Given the description of an element on the screen output the (x, y) to click on. 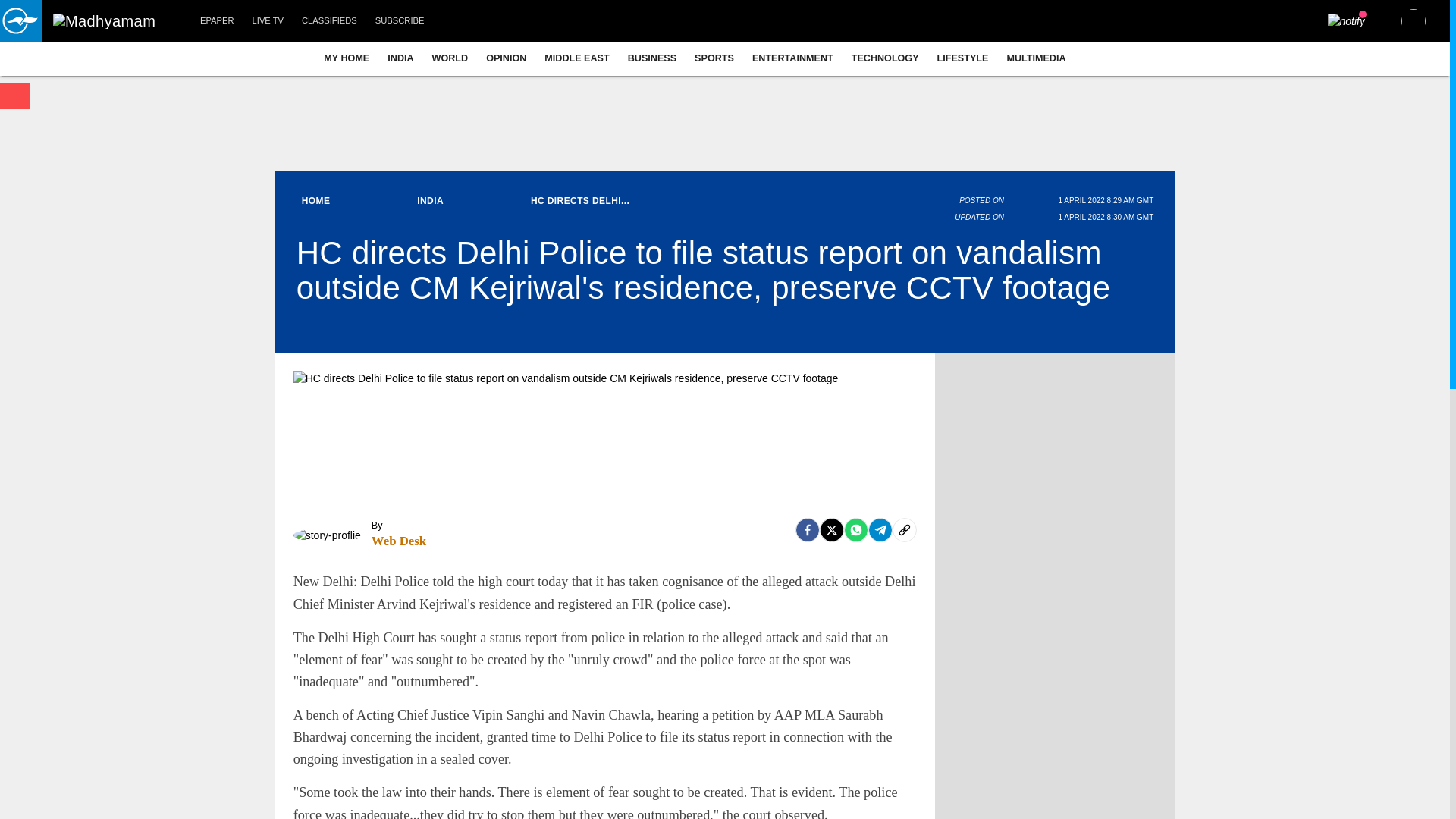
ENTERTAINMENT (792, 58)
EPAPER (216, 20)
INDIA (400, 58)
SPORTS (713, 58)
LIVE TV (267, 20)
LIFESTYLE (962, 58)
WORLD (450, 58)
SUBSCRIBE (399, 20)
OPINION (506, 58)
TECHNOLOGY (885, 58)
Madhyamam (103, 20)
notify (1346, 20)
MIDDLE EAST (576, 58)
CLASSIFIEDS (329, 20)
MY HOME (346, 58)
